Given the description of an element on the screen output the (x, y) to click on. 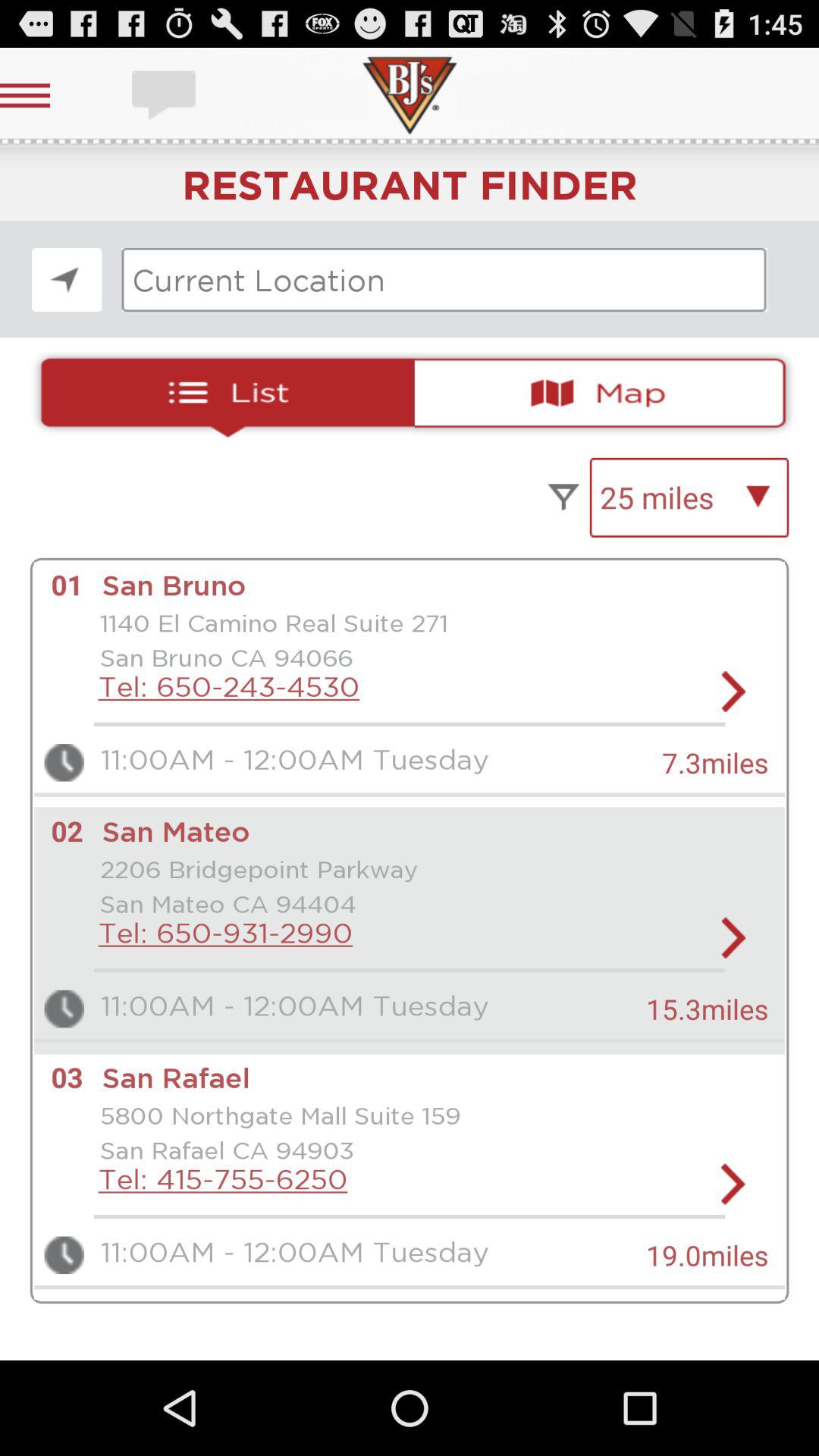
input current location (444, 279)
